Given the description of an element on the screen output the (x, y) to click on. 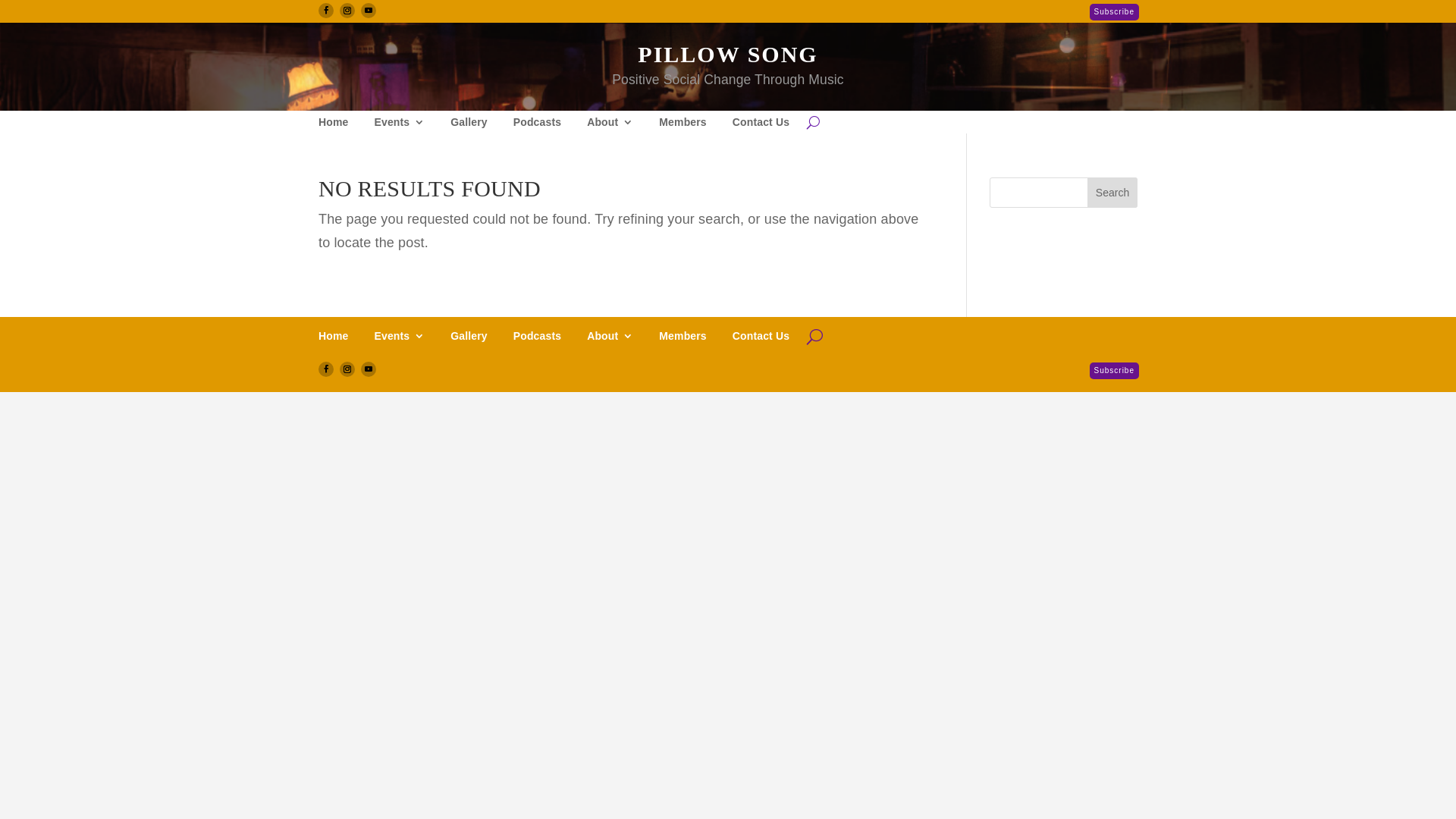
Subscribe Element type: text (1114, 370)
Follow on Instagram Element type: hover (346, 10)
Follow on Youtube Element type: hover (368, 368)
Contact Us Element type: text (760, 332)
Follow on Youtube Element type: hover (368, 10)
Gallery Element type: text (468, 124)
Follow on Facebook Element type: hover (325, 10)
Events Element type: text (398, 124)
Podcasts Element type: text (537, 124)
Follow on Facebook Element type: hover (325, 368)
Members Element type: text (682, 124)
Follow on Instagram Element type: hover (346, 368)
Home Element type: text (333, 124)
Home Element type: text (333, 332)
Contact Us Element type: text (760, 124)
Events Element type: text (398, 332)
About Element type: text (609, 124)
Search Element type: text (1112, 192)
Subscribe Element type: text (1114, 11)
Gallery Element type: text (468, 332)
Podcasts Element type: text (537, 332)
About Element type: text (609, 332)
Members Element type: text (682, 332)
